Given the description of an element on the screen output the (x, y) to click on. 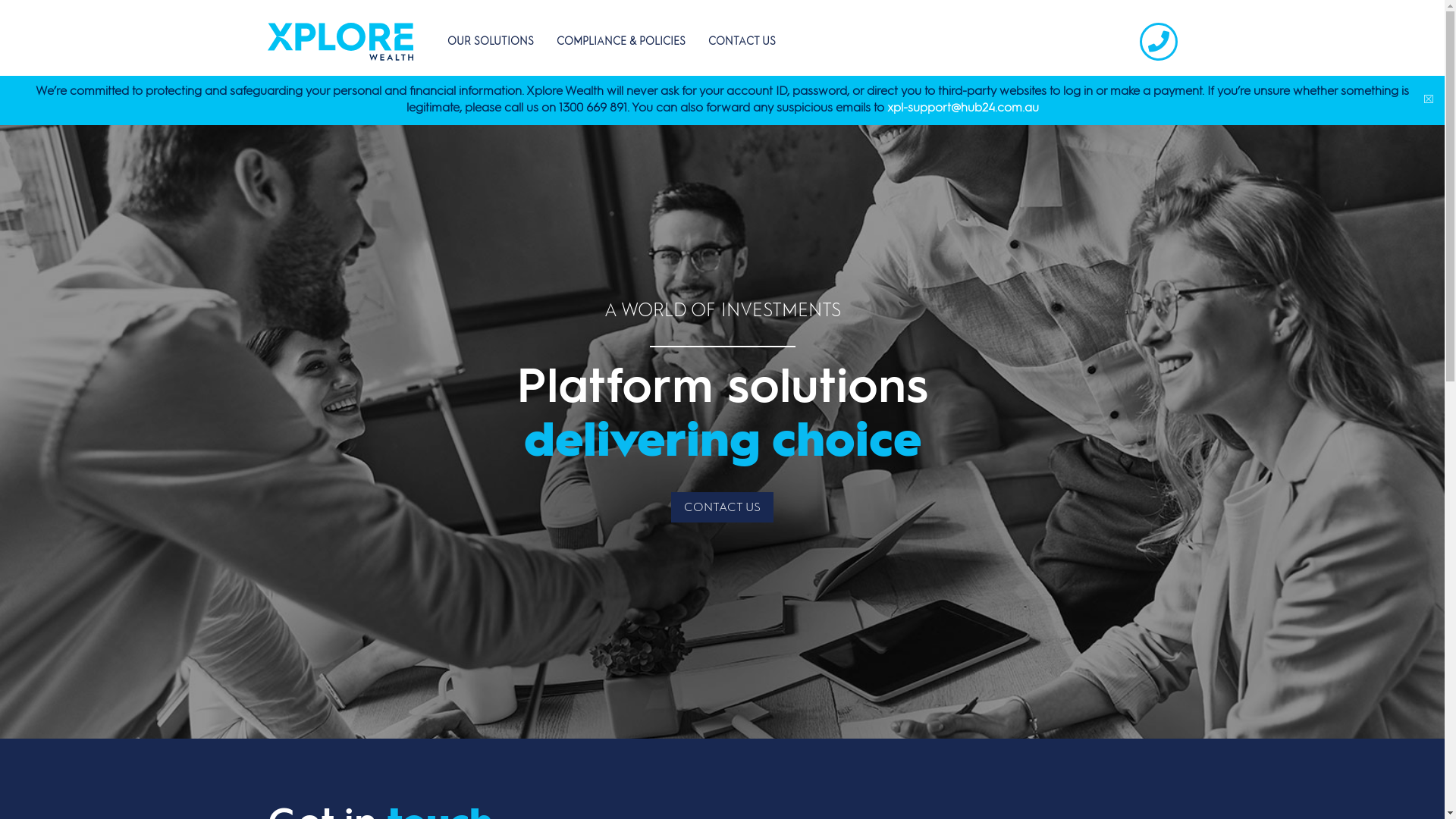
CONTACT US Element type: text (741, 45)
xpl-support@hub24.com.au Element type: text (962, 108)
CONTACT US Element type: text (722, 507)
COMPLIANCE & POLICIES Element type: text (620, 45)
